Given the description of an element on the screen output the (x, y) to click on. 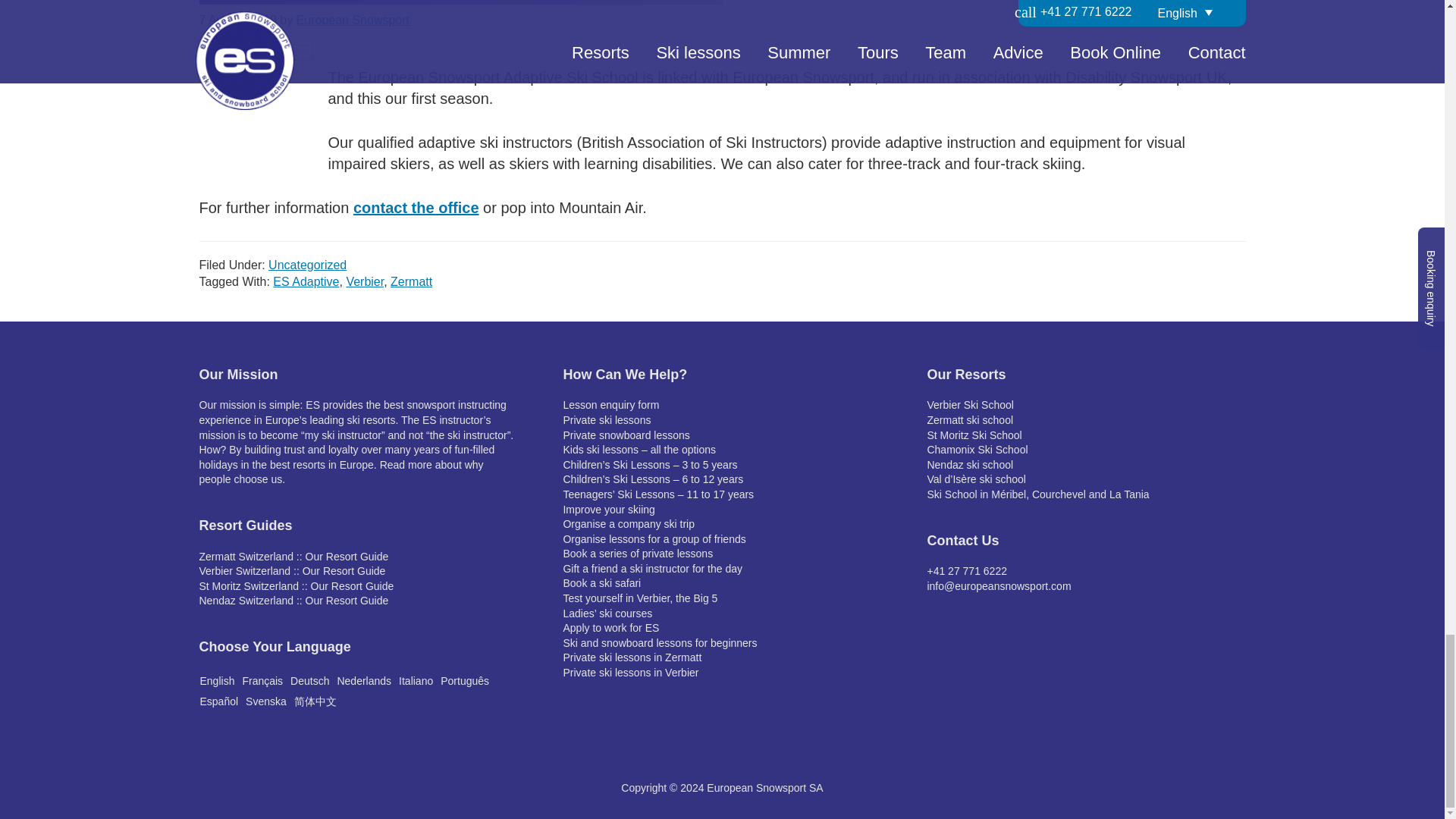
St Moritz Ski School (974, 435)
Verbier Ski School (969, 404)
Nendaz Ski School (969, 464)
Zermatt Ski School (969, 419)
